Given the description of an element on the screen output the (x, y) to click on. 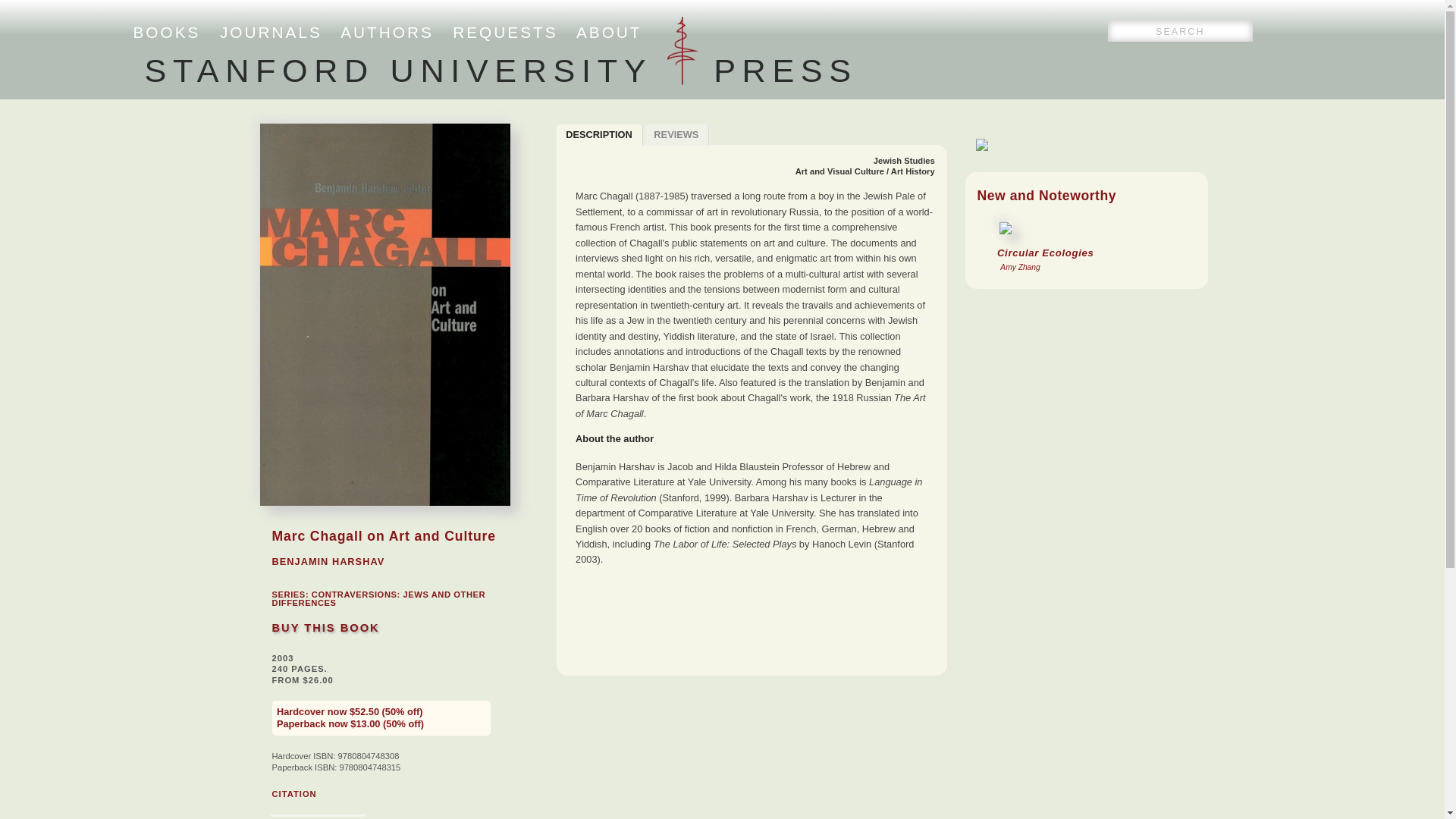
JOURNALS (270, 31)
ABOUT (609, 31)
AUTHORS (386, 31)
Jewish Studies (903, 160)
REVIEWS (677, 134)
REQUESTS (504, 31)
DESCRIPTION (599, 134)
BOOKS (166, 31)
CITATION (292, 793)
STANFORD UNIVERSITY PRESS (500, 70)
BUY THIS BOOK (324, 627)
CONTRAVERSIONS: JEWS AND OTHER DIFFERENCES (377, 598)
